Given the description of an element on the screen output the (x, y) to click on. 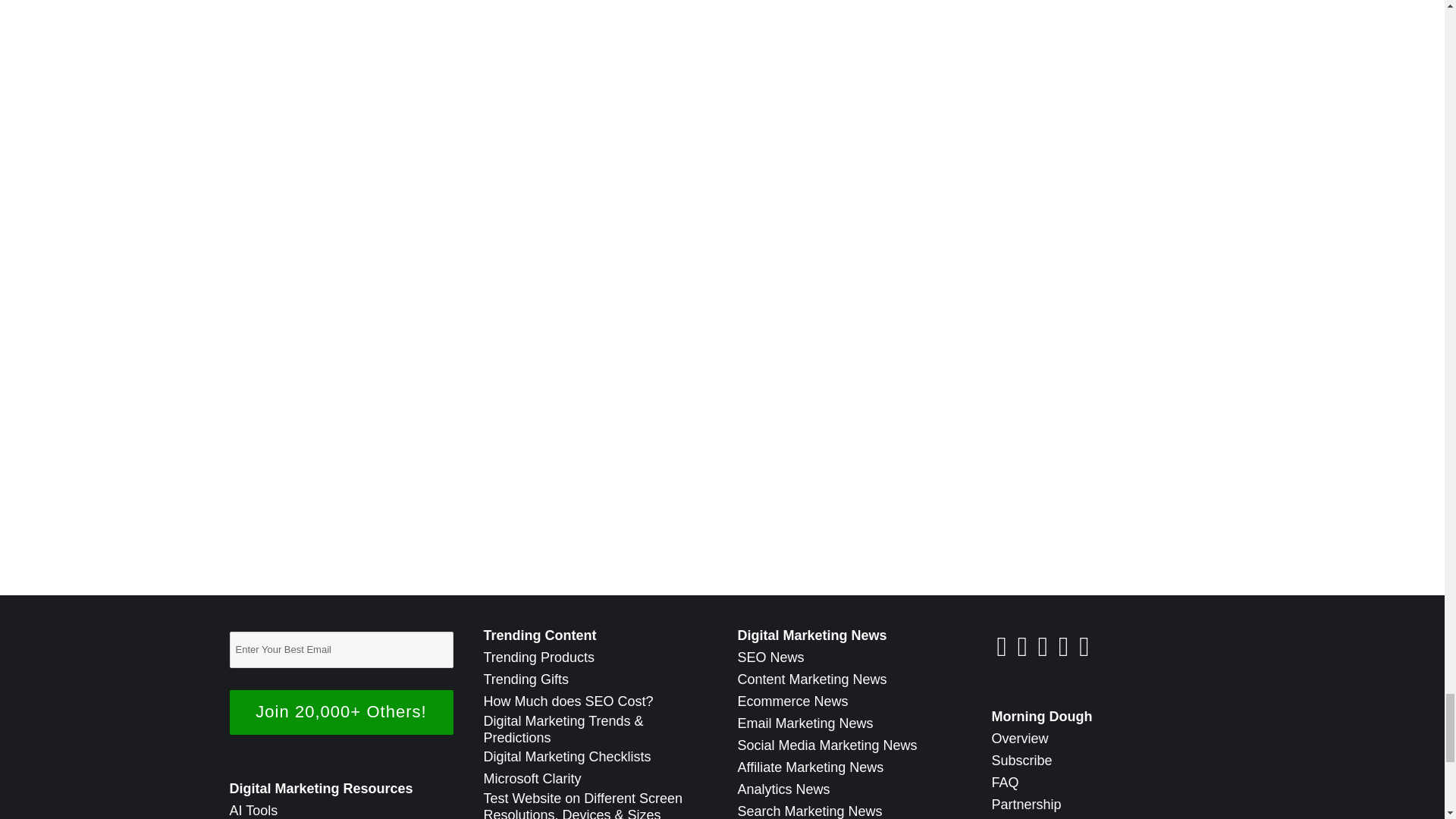
AI Tools (253, 810)
